Given the description of an element on the screen output the (x, y) to click on. 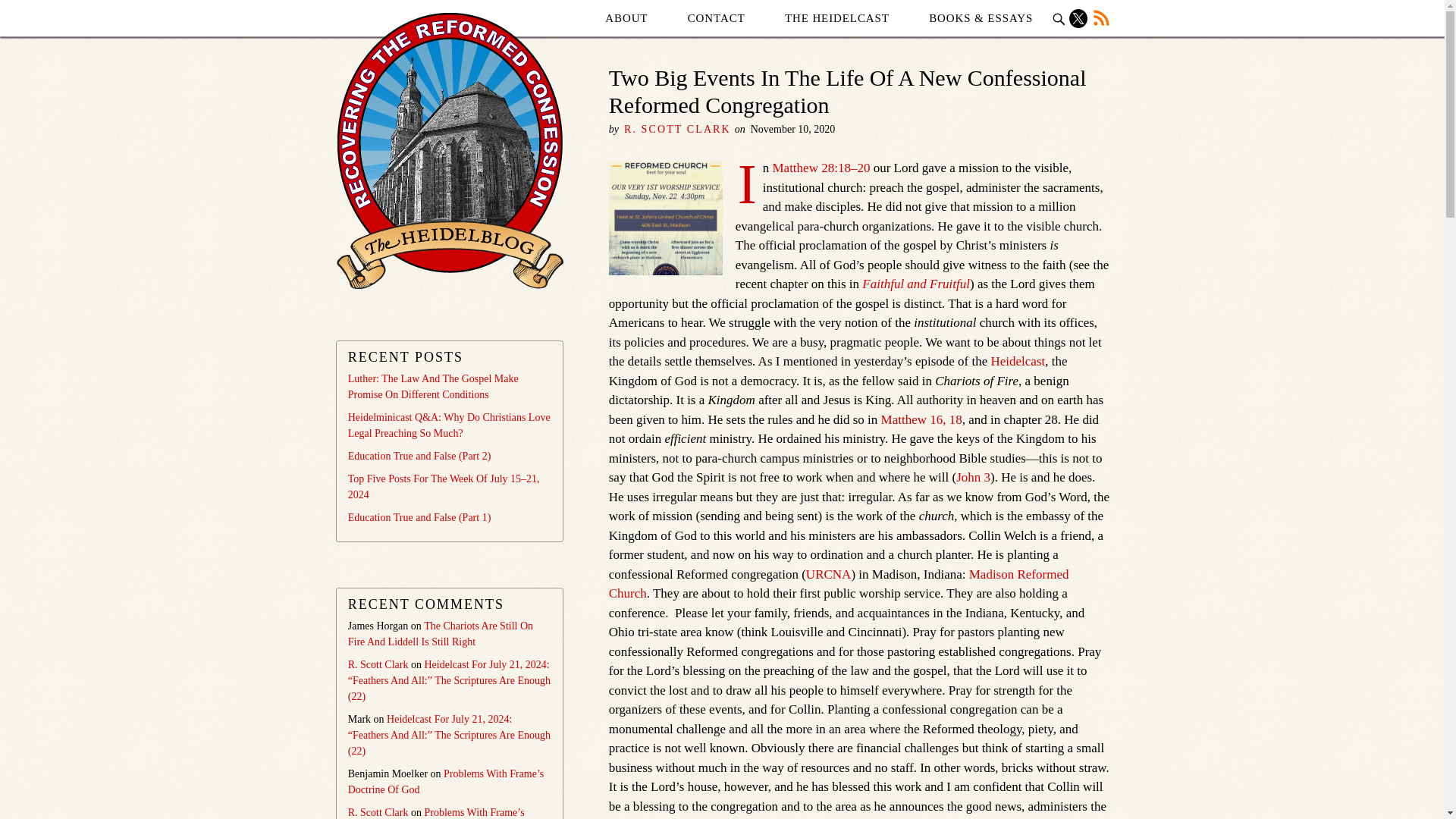
Contact (715, 18)
Heidelcast (1017, 360)
ABOUT (625, 18)
CONTACT (715, 18)
URCNA (828, 574)
John 3 (973, 477)
Matthew 16, 18 (921, 419)
The Heidelcast (837, 18)
Madison Reformed Church (838, 584)
About (625, 18)
Faithful and Fruitful (915, 283)
THE HEIDELCAST (837, 18)
R. SCOTT CLARK (677, 129)
